Given the description of an element on the screen output the (x, y) to click on. 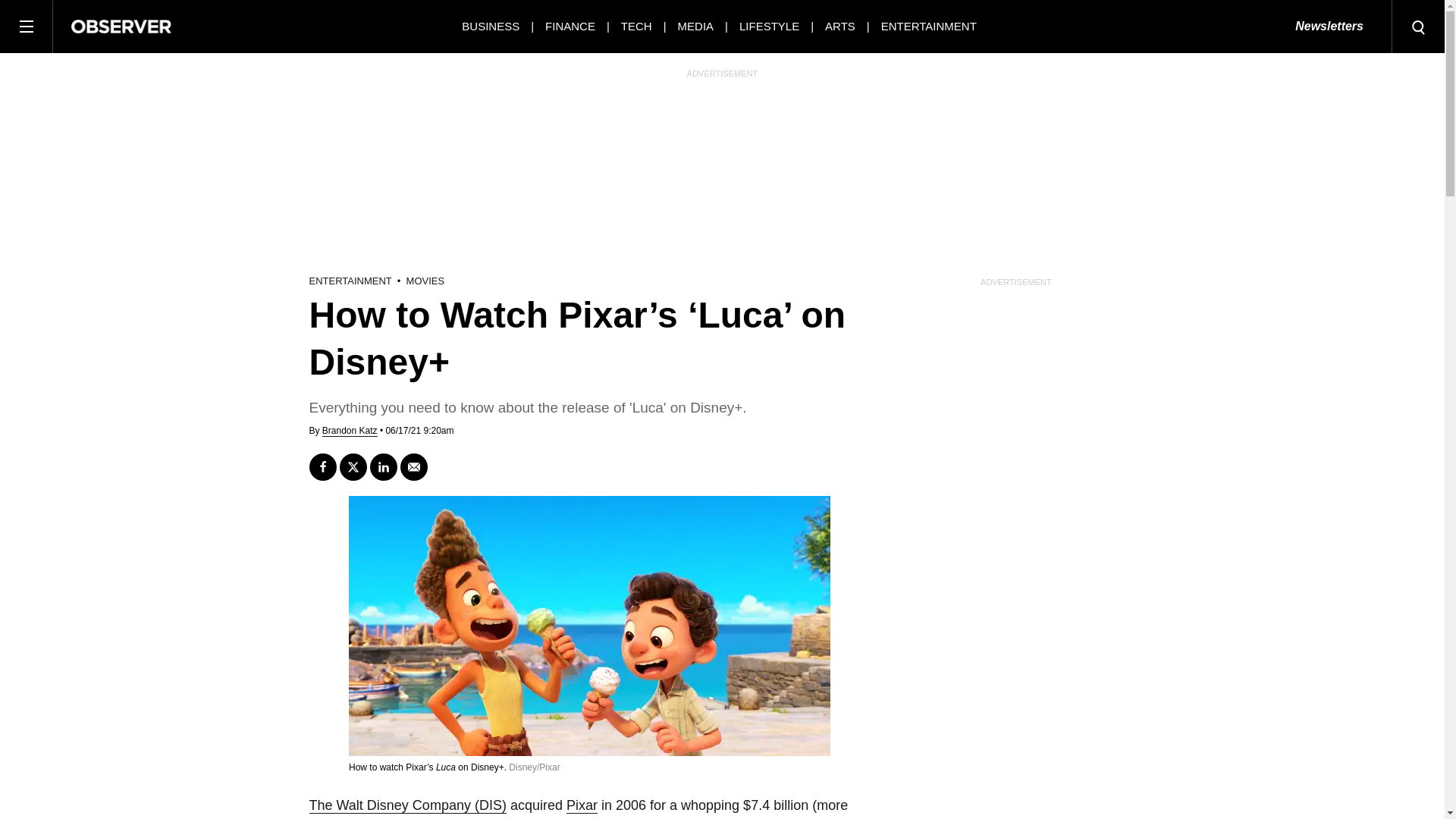
MEDIA (696, 25)
Share on LinkedIn (383, 466)
TECH (636, 25)
Send email (414, 466)
Pixar (581, 805)
FINANCE (569, 25)
ENTERTAINMENT (928, 25)
The Walt Disney Company (407, 805)
BUSINESS (490, 25)
Share on Facebook (322, 466)
Observer (121, 26)
Tweet (352, 466)
LIFESTYLE (769, 25)
ARTS (840, 25)
View All Posts by Brandon Katz (349, 430)
